Given the description of an element on the screen output the (x, y) to click on. 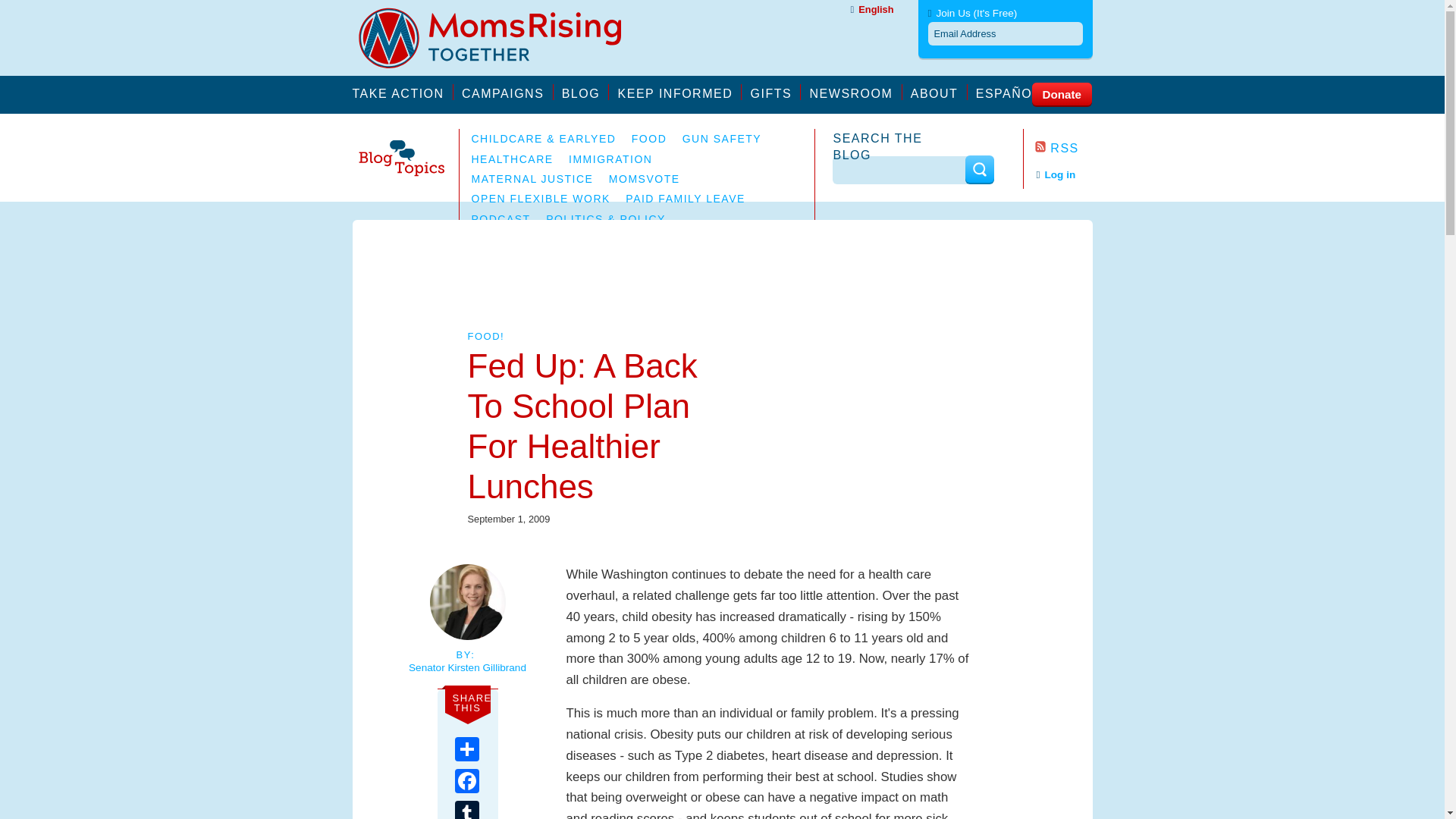
Search (978, 169)
Log in (1055, 174)
FOOD! (485, 336)
PAID FAMILY LEAVE (685, 198)
FOOD (648, 138)
CAMPAIGNS (507, 91)
NEWSROOM (855, 91)
English (871, 9)
MomsRising.org (499, 38)
GUN SAFETY (721, 138)
Skip to main content (55, 8)
Donate (1060, 92)
Important press releases, statements, and media highlights (855, 91)
